Given the description of an element on the screen output the (x, y) to click on. 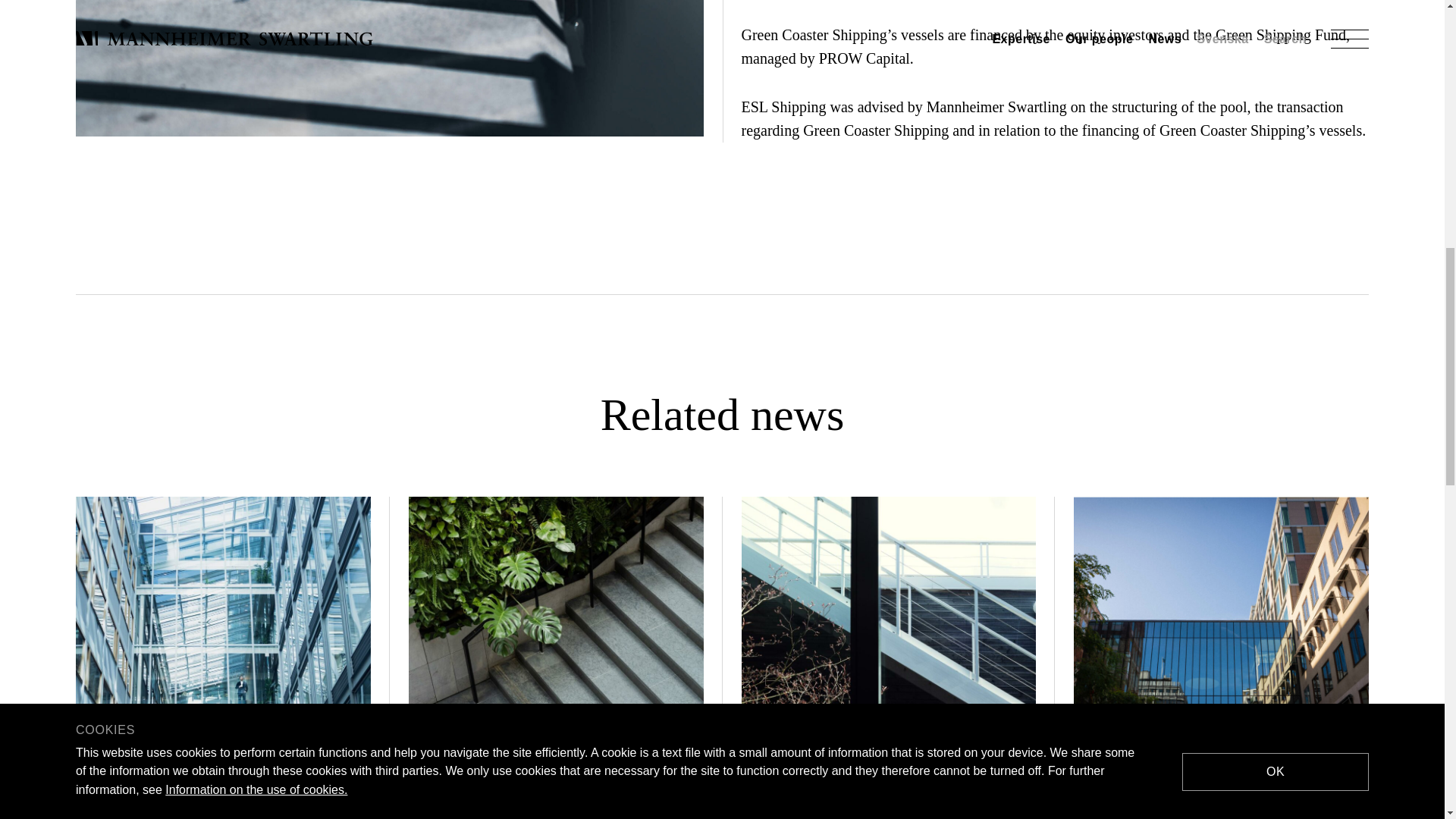
Tenzing invests in Bannerflow (1221, 650)
Cinven to become lead investor in Vitamin Well (556, 657)
DataGuard acquires privacy SaaS company DPOrganizer (223, 657)
Cinven to become lead investor in Vitamin Well (556, 657)
DataGuard acquires privacy SaaS company DPOrganizer (223, 657)
Tenzing invests in Bannerflow (1221, 650)
